Given the description of an element on the screen output the (x, y) to click on. 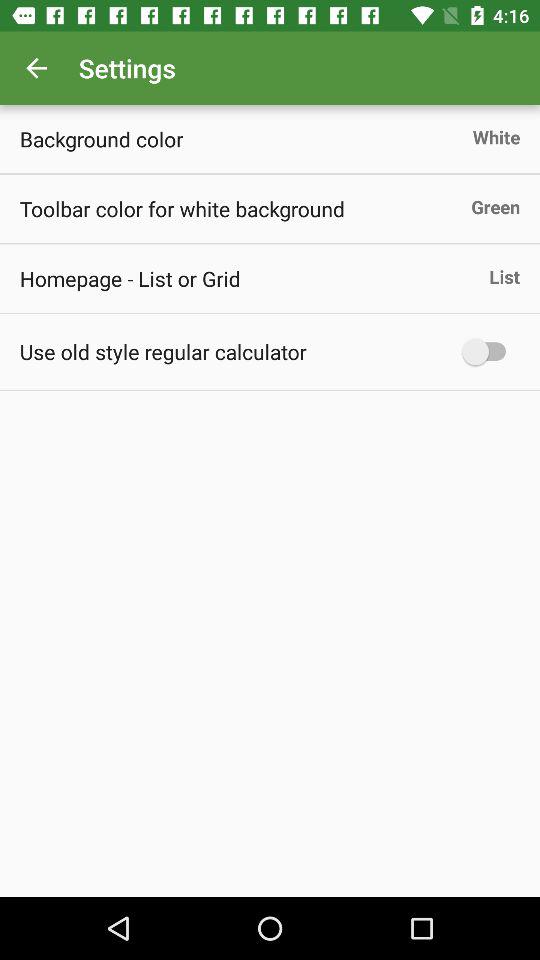
tap toolbar color for (182, 208)
